Given the description of an element on the screen output the (x, y) to click on. 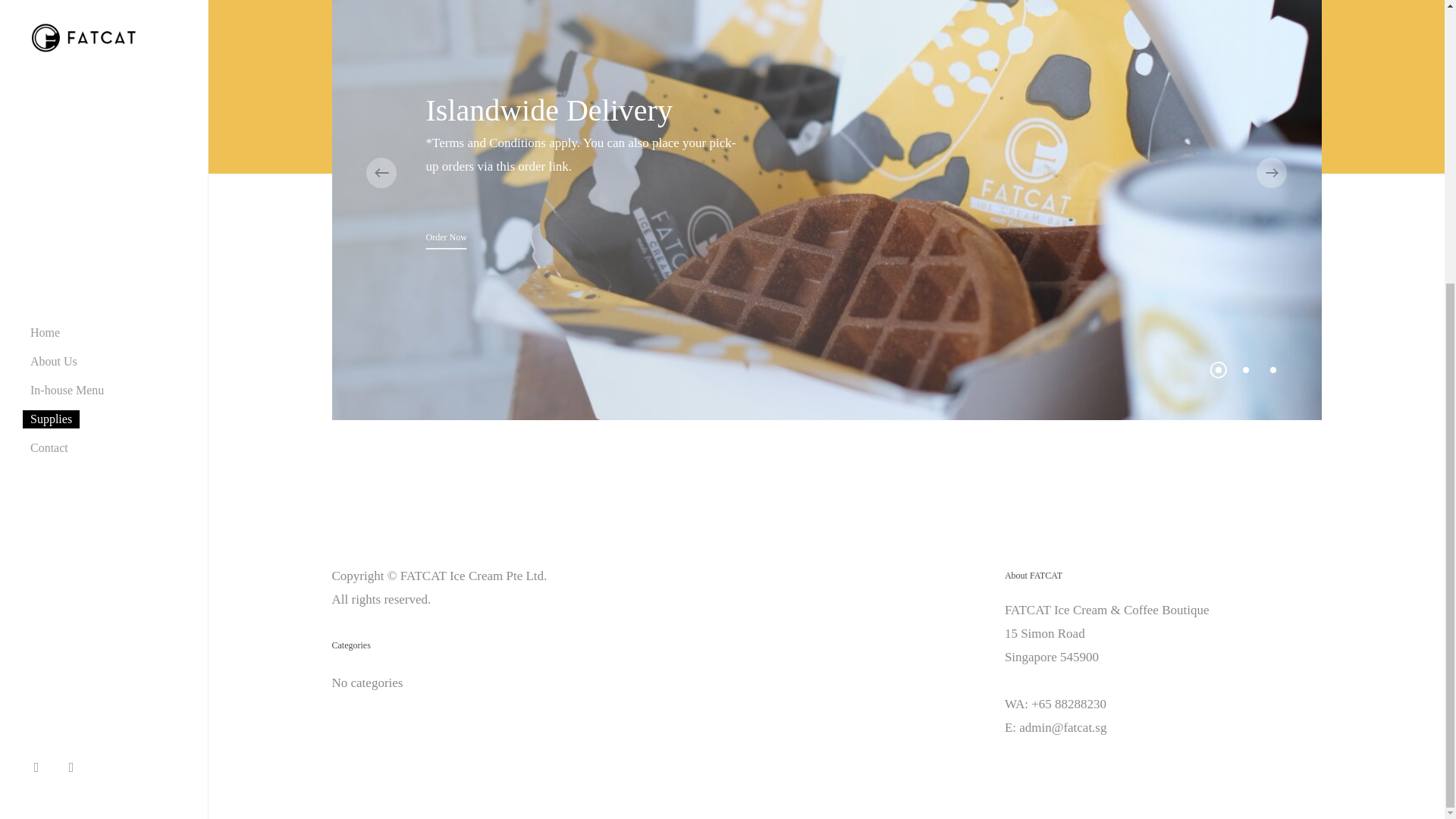
facebook (40, 340)
instagram (75, 340)
Supplies (51, 4)
Contact (49, 23)
Order Now (445, 237)
